Given the description of an element on the screen output the (x, y) to click on. 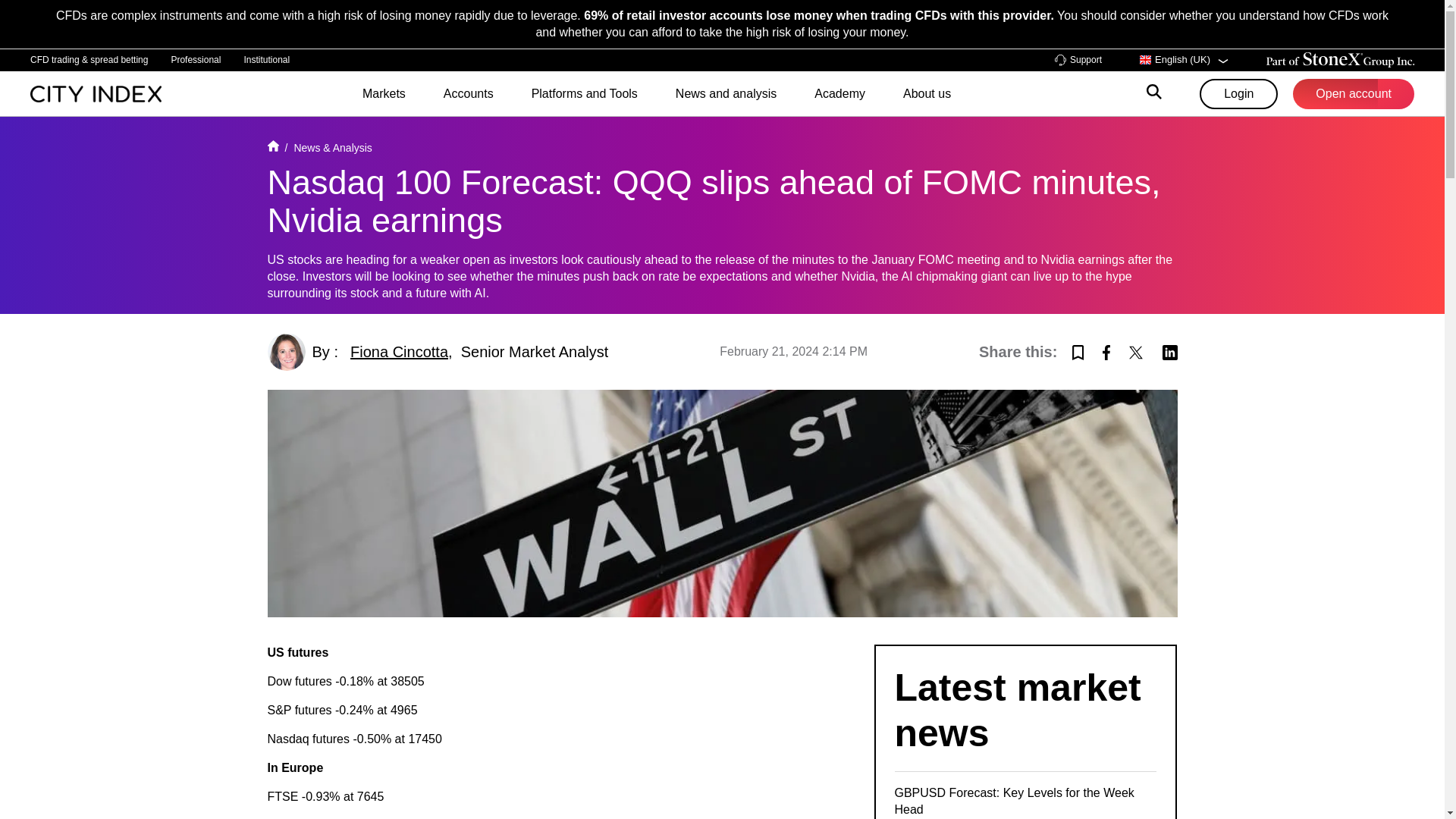
search (1154, 93)
Fiona Cincotta (399, 351)
Share to LinkedIn (1168, 350)
Home (272, 147)
Share to X (1135, 350)
Institutional (266, 59)
Professional (195, 59)
Support (1078, 60)
Home (95, 93)
News and Analysis (332, 147)
